Given the description of an element on the screen output the (x, y) to click on. 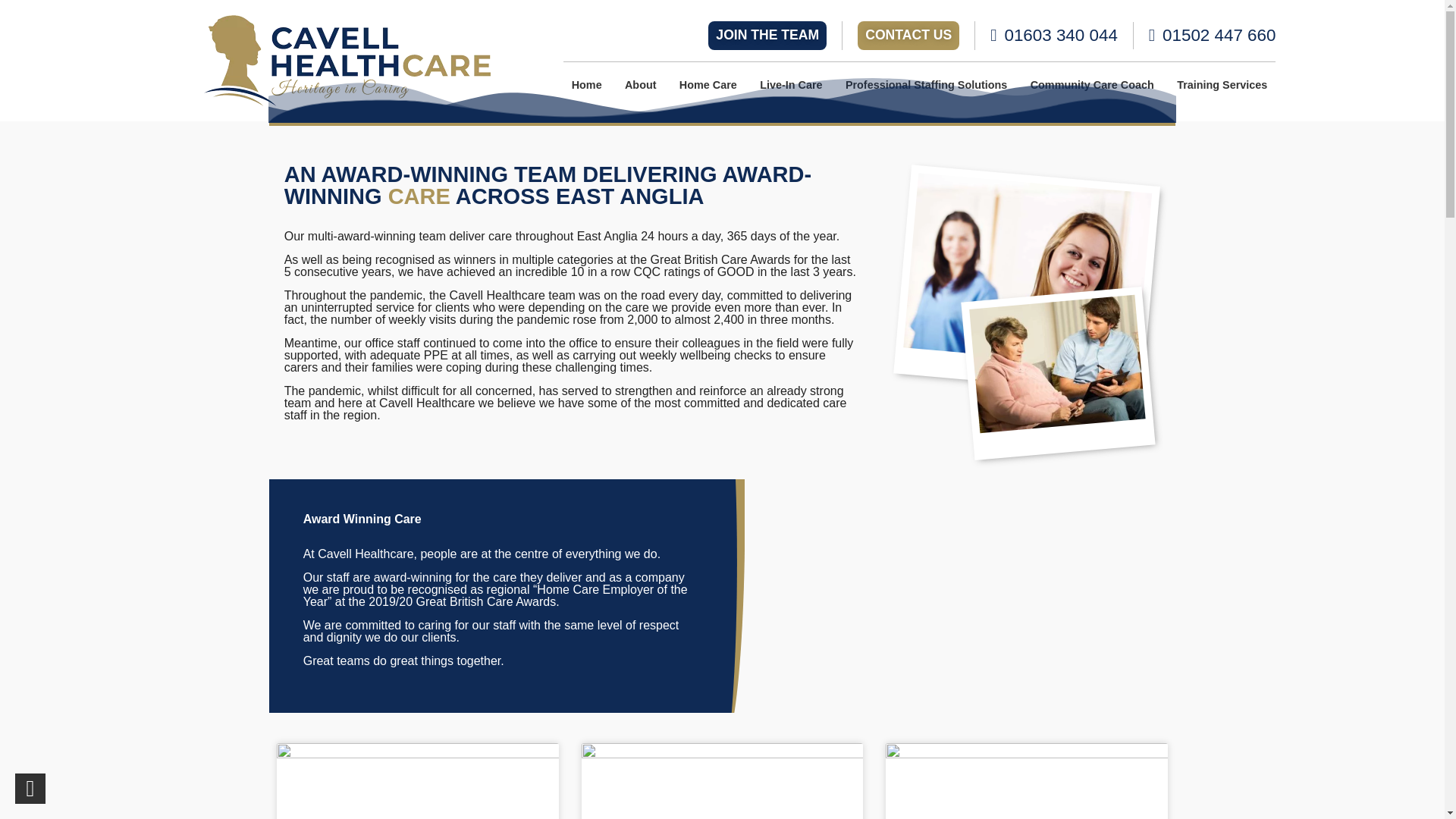
01502 447 660 (1212, 35)
JOIN THE TEAM (767, 35)
Home Care (708, 84)
Home (586, 84)
About (640, 84)
Lowestoft Office (1212, 35)
Community Care Coach (1091, 84)
Professional Staffing Solutions (926, 84)
Training Services (1222, 84)
CONTACT US (908, 35)
